Given the description of an element on the screen output the (x, y) to click on. 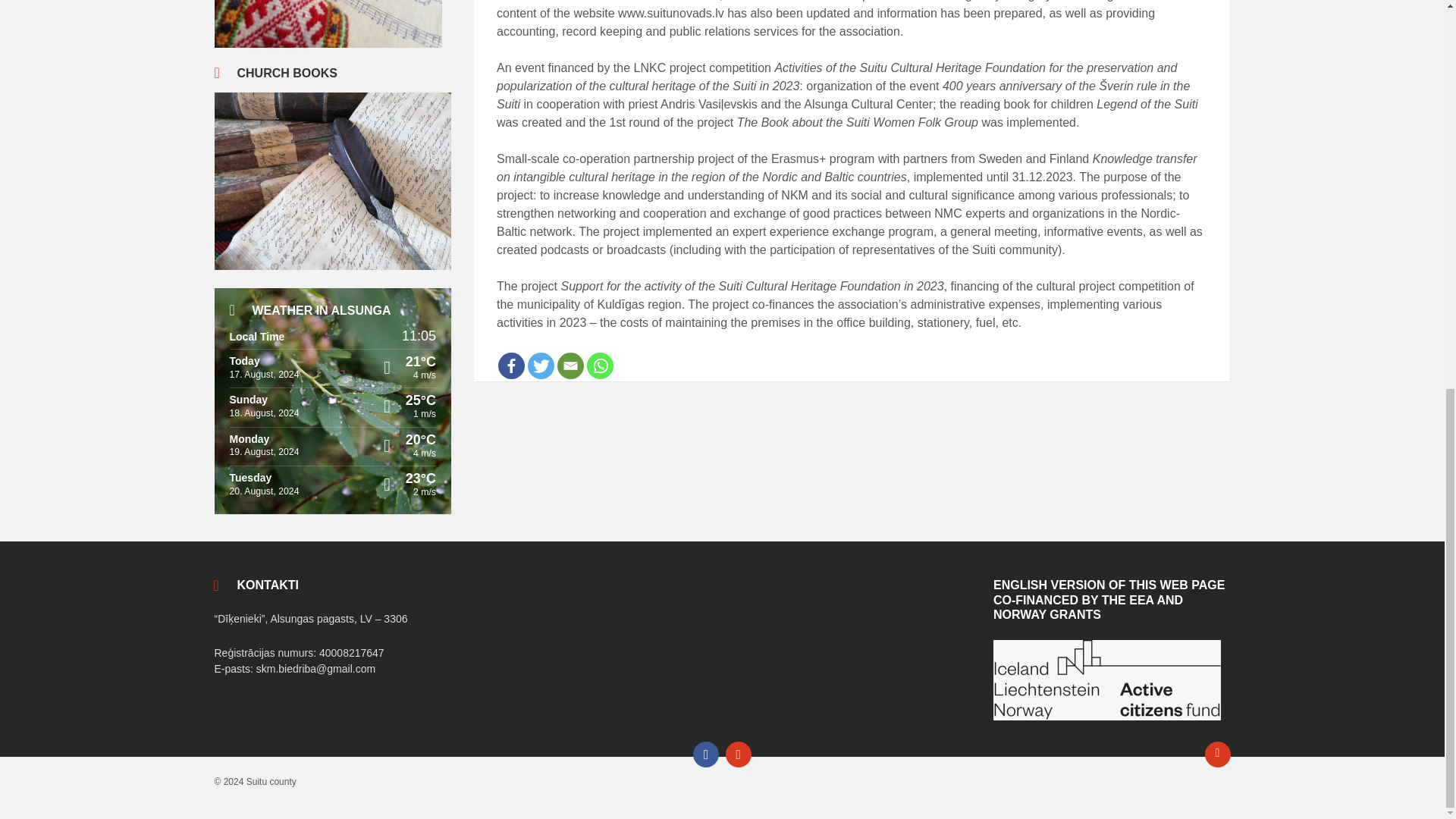
Wind speed (384, 375)
Wind speed (384, 413)
Wind speed (384, 453)
Email (570, 365)
Facebook (510, 365)
Temperature (384, 400)
Twitter (540, 365)
Temperature (384, 361)
Wind speed (384, 491)
Whatsapp (599, 365)
